Given the description of an element on the screen output the (x, y) to click on. 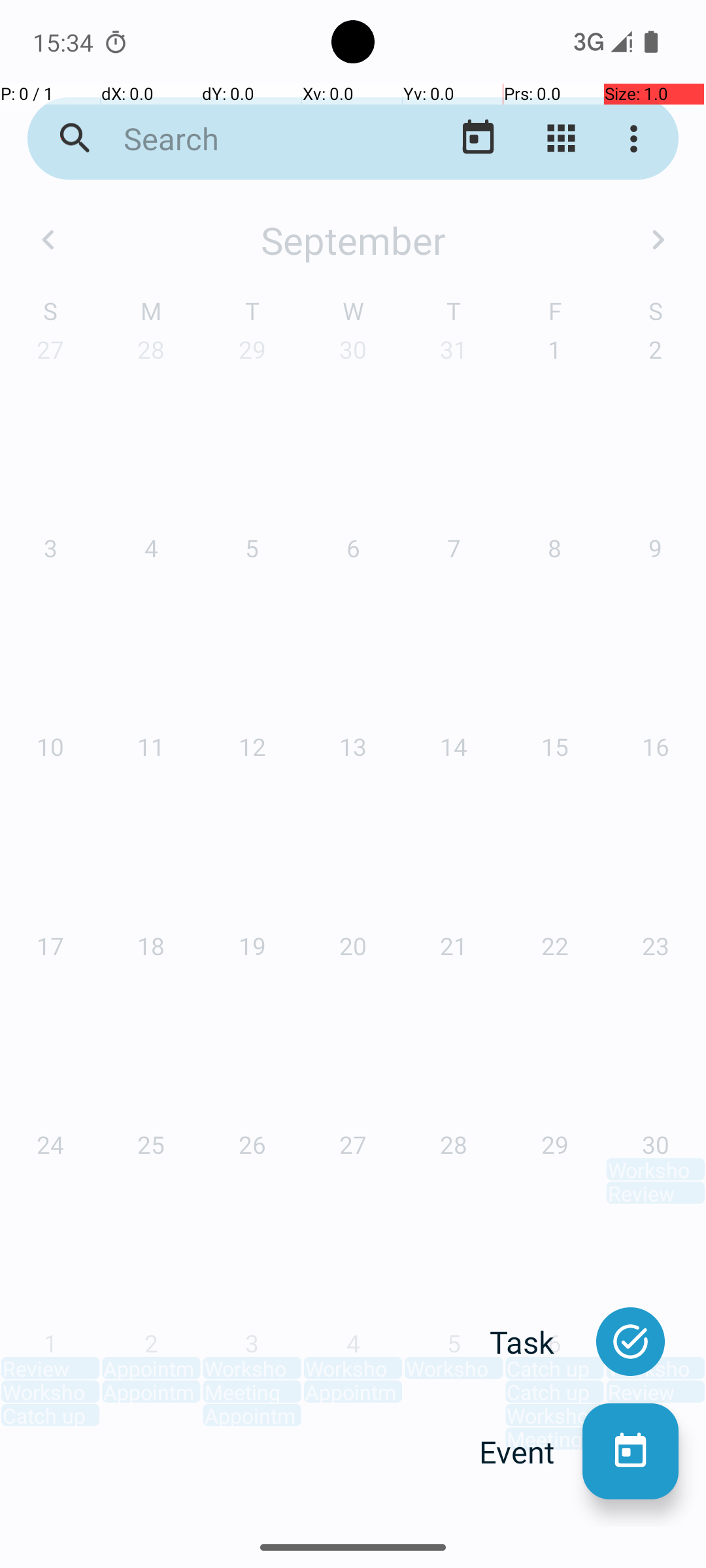
September Element type: android.widget.TextView (352, 239)
